Given the description of an element on the screen output the (x, y) to click on. 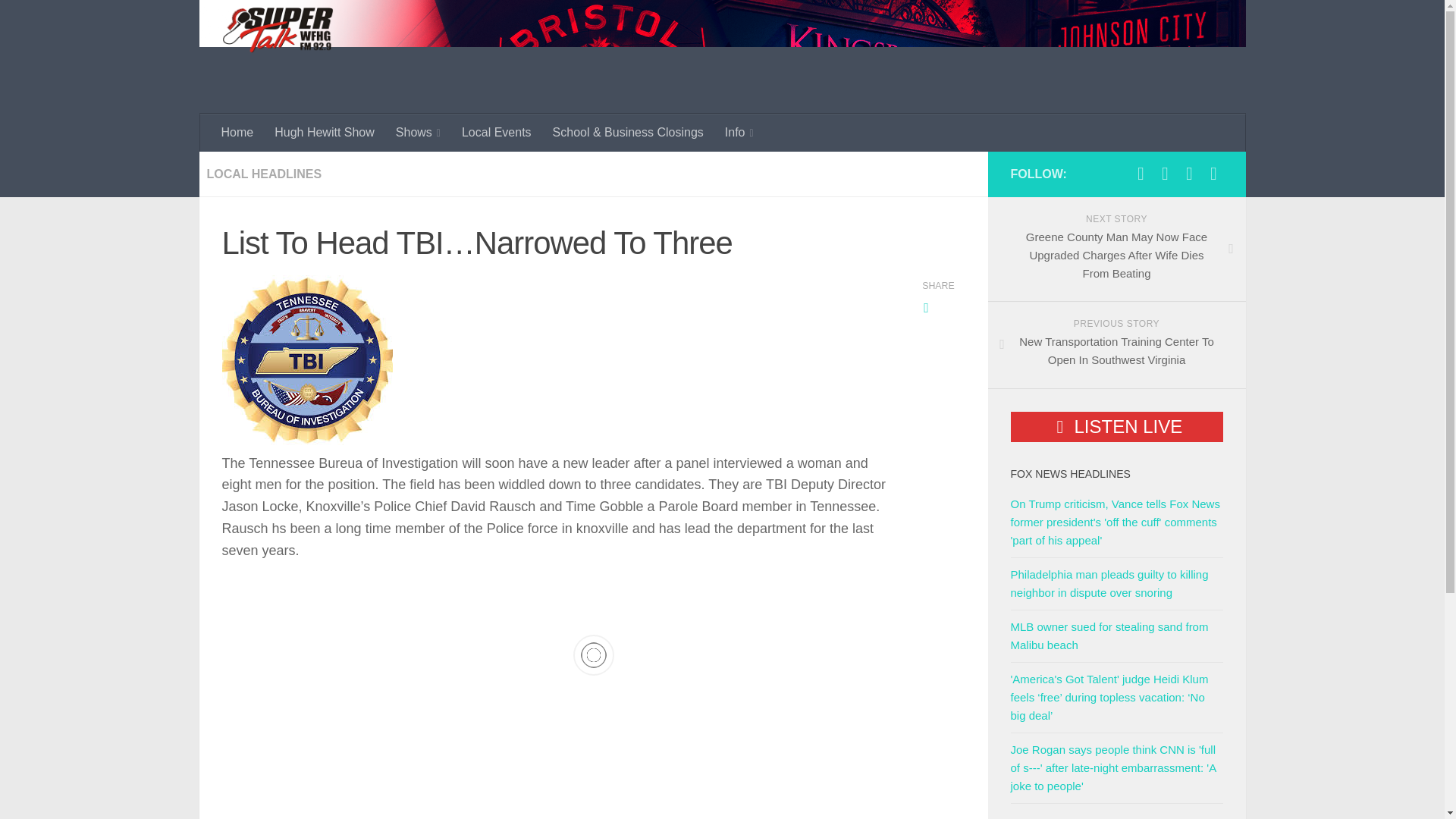
Follow us on Facebook (1140, 173)
Shows (418, 132)
Local Events (496, 132)
Hugh Hewitt Show (324, 132)
Contact Us (1188, 173)
Info (739, 132)
Rss Feed (1213, 173)
Follow us on Twitter (1164, 173)
Home (237, 132)
